Given the description of an element on the screen output the (x, y) to click on. 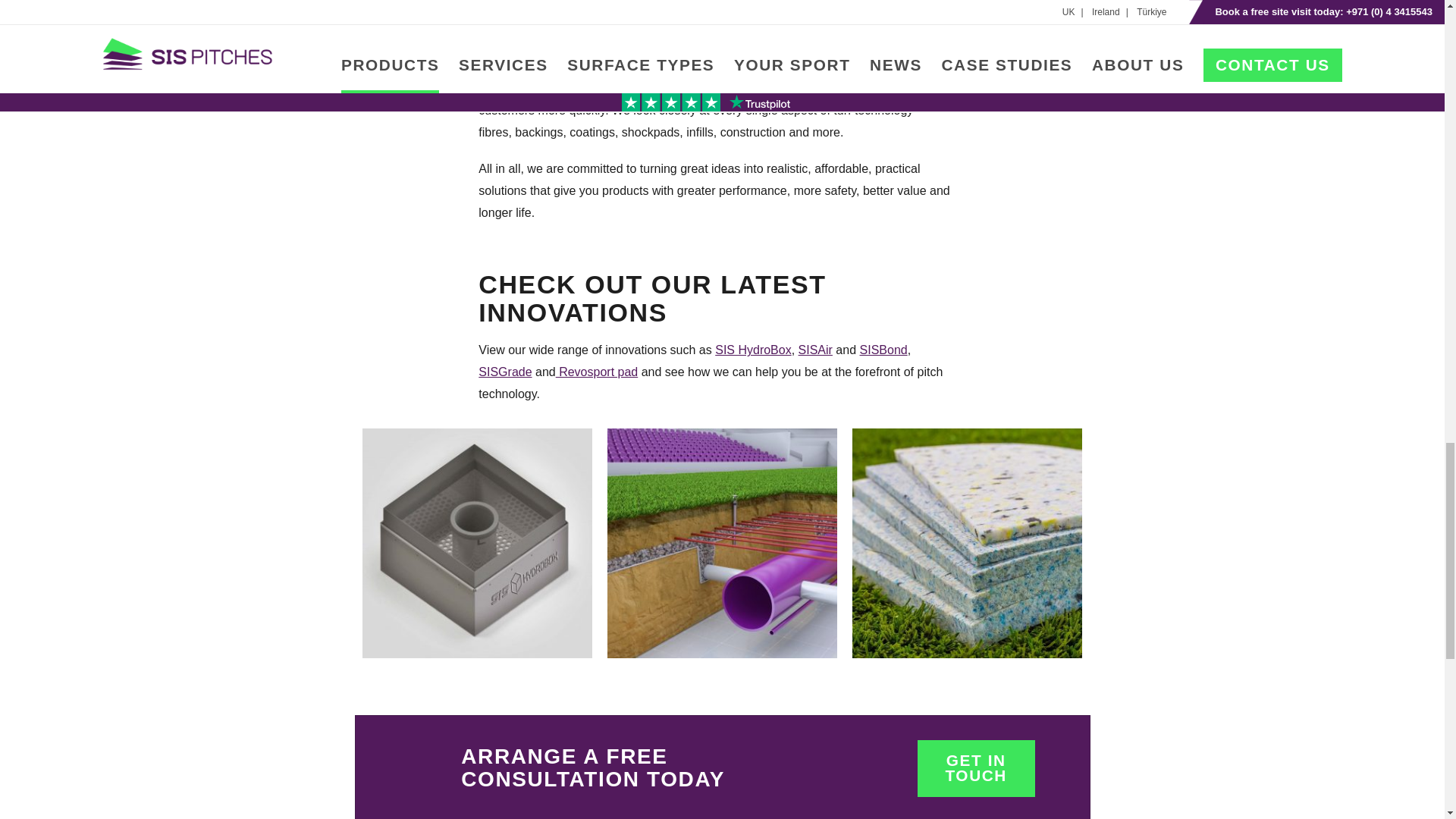
641-0516-00236 (966, 548)
sis-hydrobox-watering-system (477, 548)
sisair-root-growth-system (721, 548)
